Given the description of an element on the screen output the (x, y) to click on. 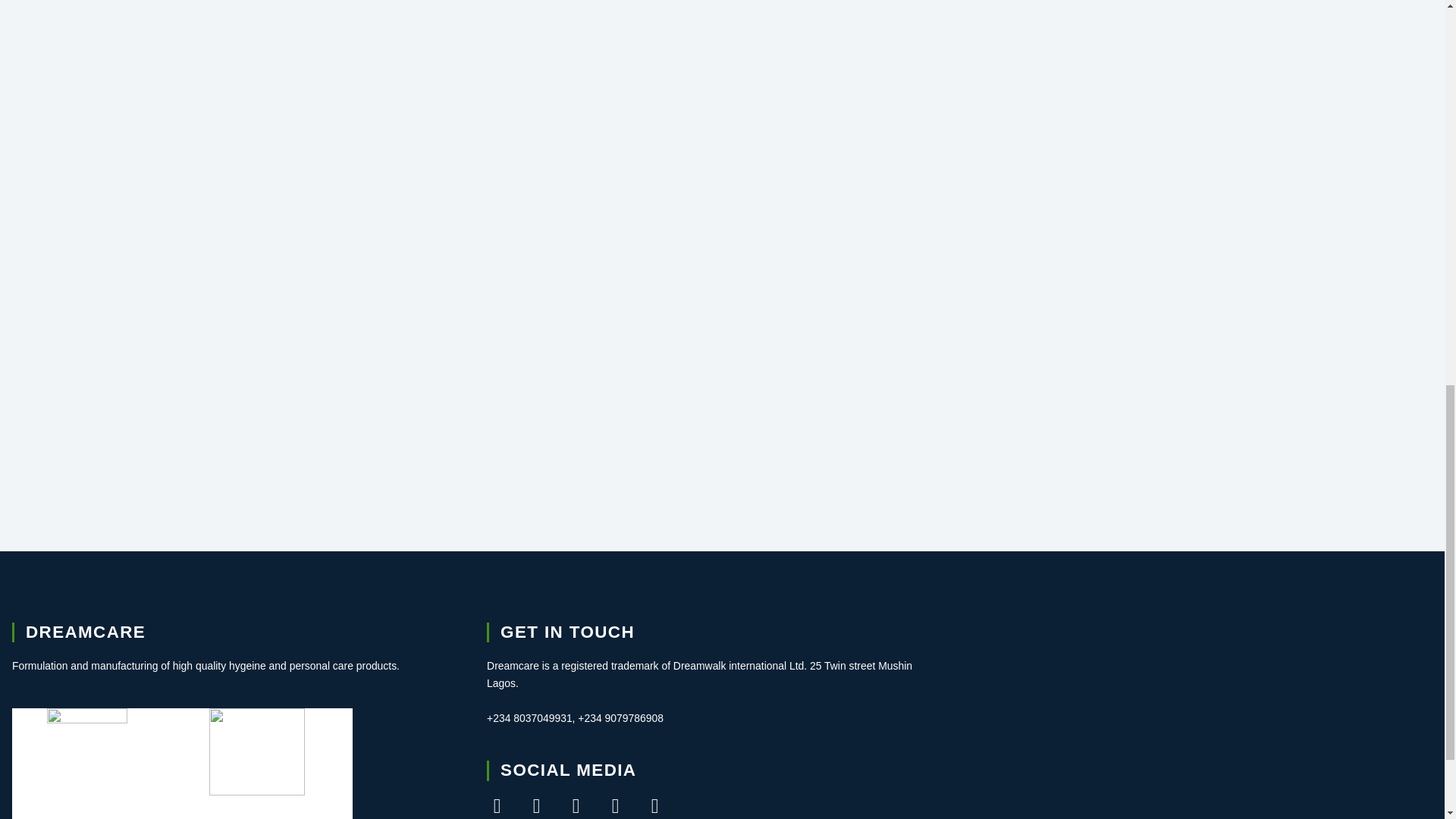
Linkedin-in (655, 806)
Twitter (536, 806)
Youtube (615, 806)
Facebook-f (496, 806)
25 Twin street Mushin Lagos (1197, 720)
Google-plus-g (576, 806)
